Given the description of an element on the screen output the (x, y) to click on. 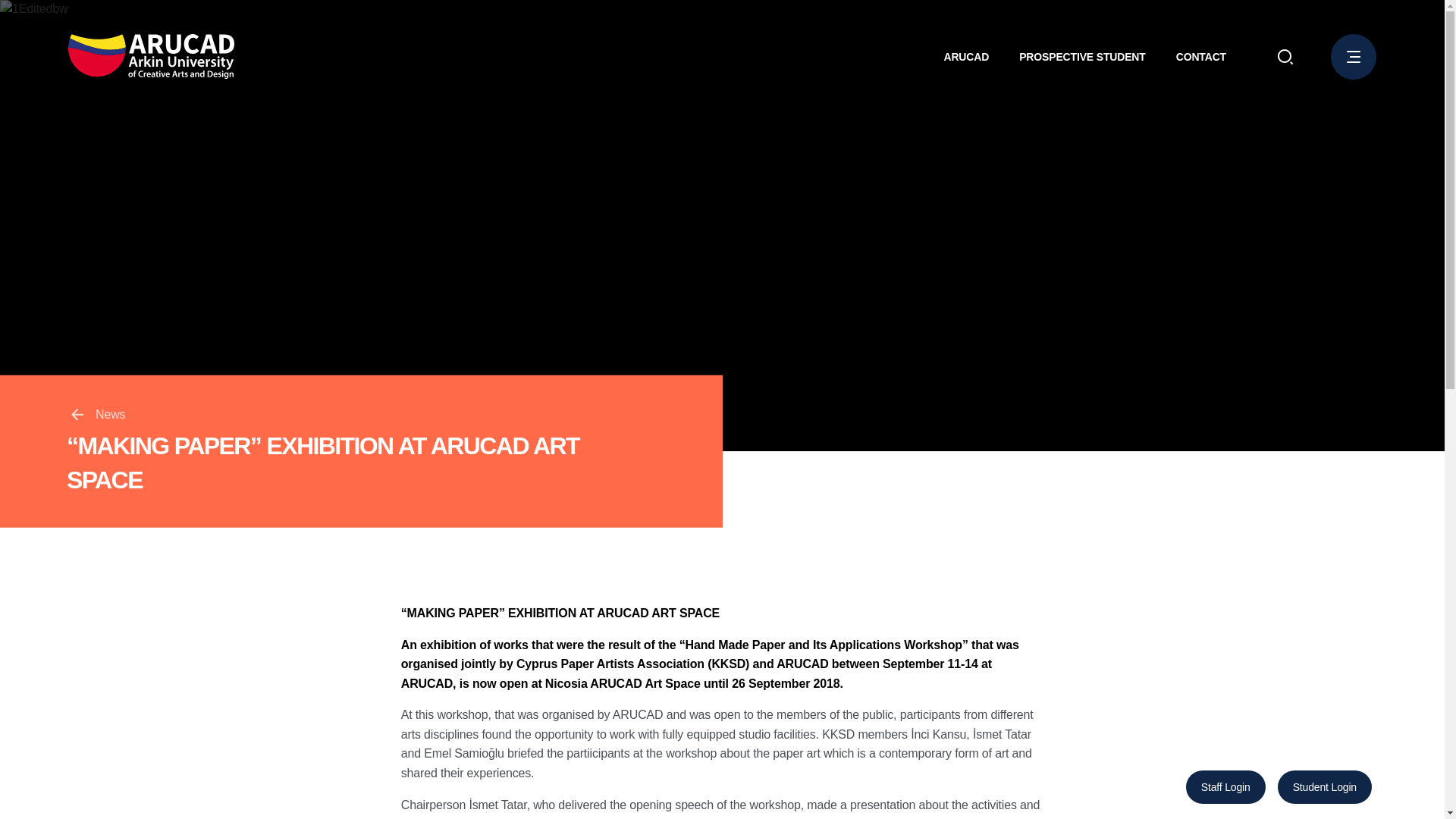
ARUCAD (965, 55)
News (96, 414)
PROSPECTIVE STUDENT (1082, 55)
CONTACT (1200, 55)
